Given the description of an element on the screen output the (x, y) to click on. 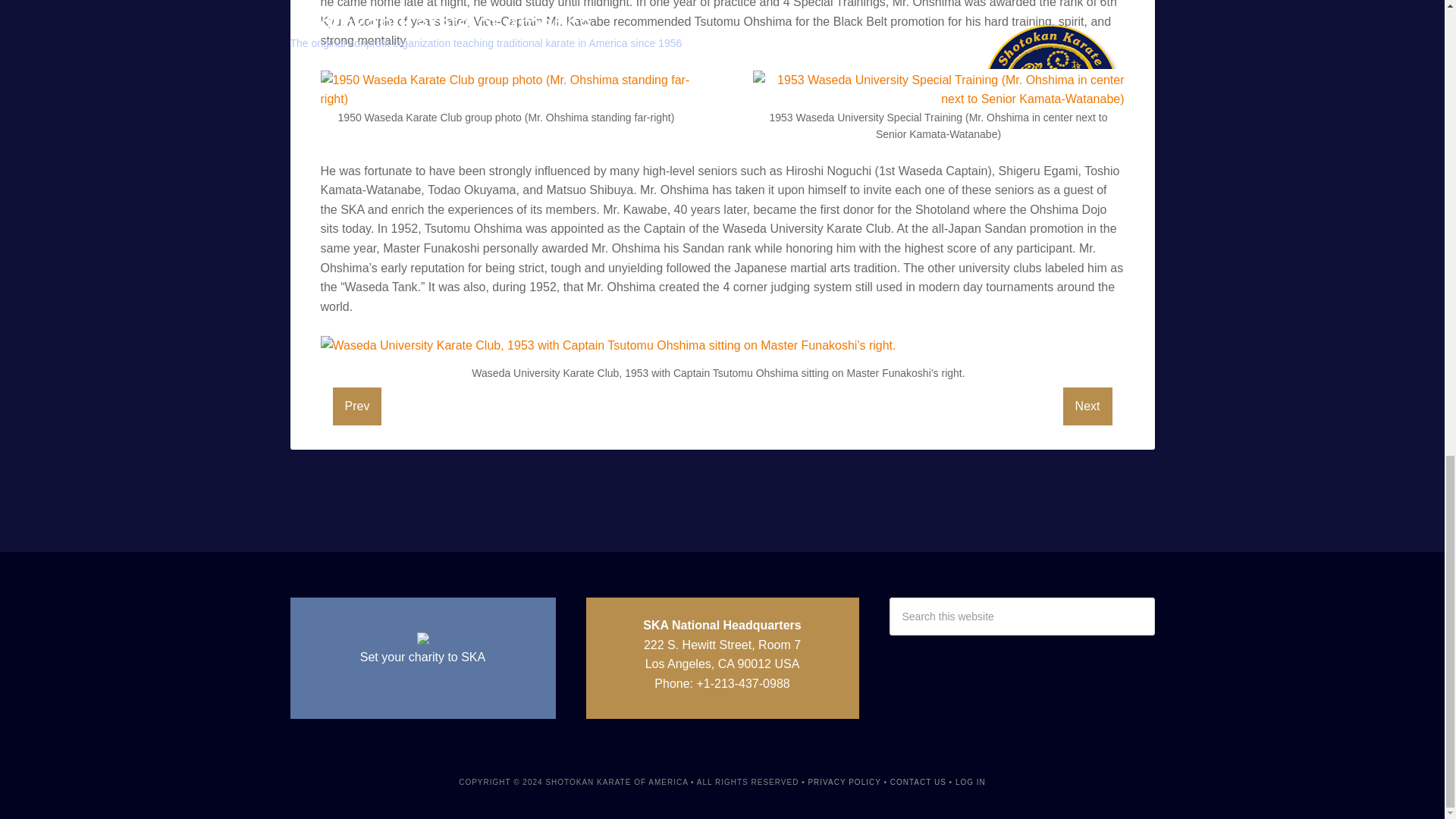
Next (1087, 406)
Prev (356, 406)
